Given the description of an element on the screen output the (x, y) to click on. 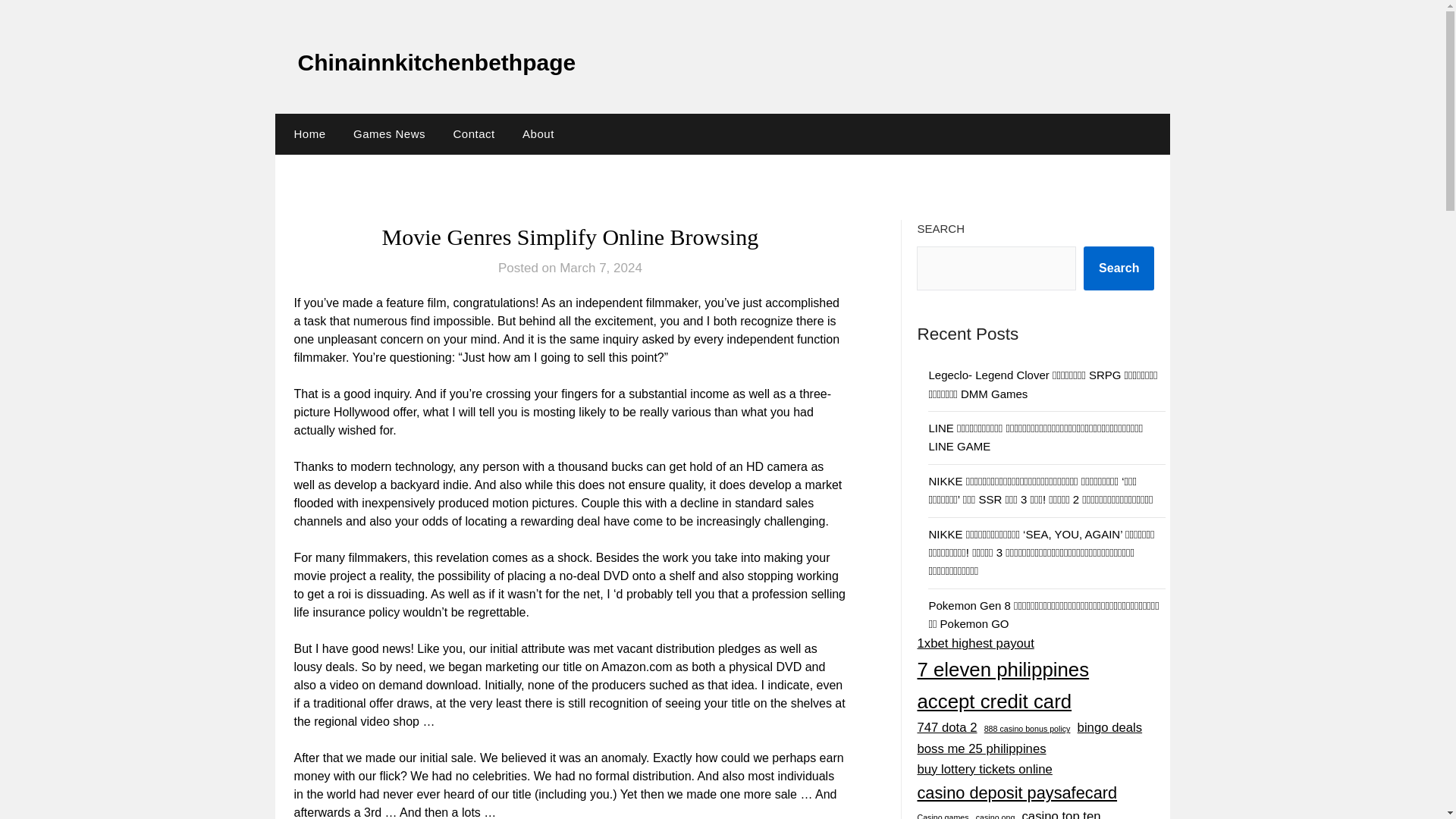
1xbet highest payout (975, 643)
Search (1118, 268)
bingo deals (1109, 727)
casino top ten (1061, 812)
casino ong (994, 815)
Home (306, 133)
Contact (473, 133)
888 casino bonus policy (1027, 728)
747 dota 2 (946, 727)
Casino games (942, 815)
